Given the description of an element on the screen output the (x, y) to click on. 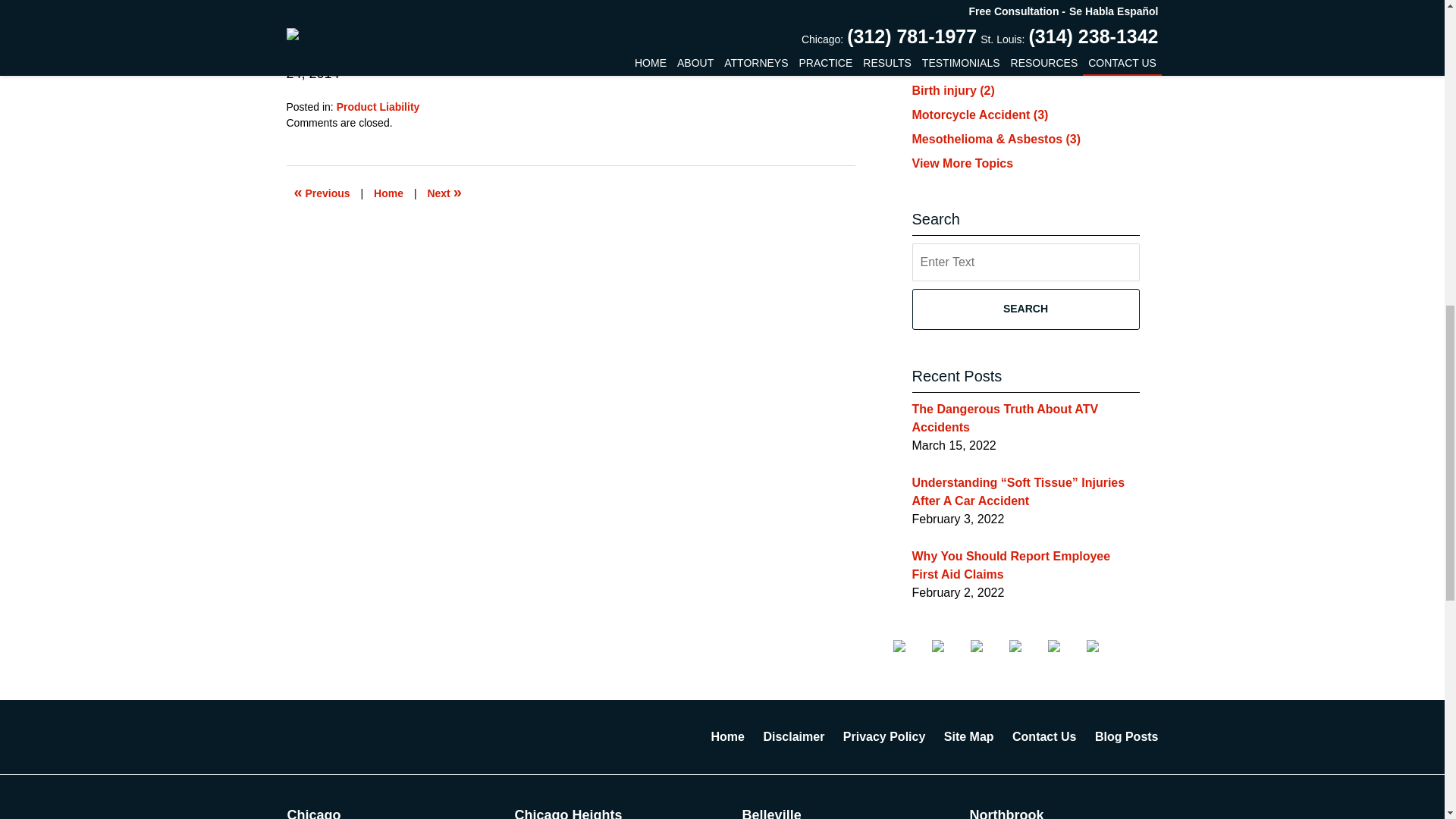
Twitter (948, 645)
LinkedIn (988, 645)
View all posts in Product Liability (378, 106)
YouTube (1065, 645)
Feed (1103, 645)
Facebook (910, 645)
Home (388, 193)
Justia (1026, 645)
Product Liability (378, 106)
Alcohol, BAC And Car Accidents (322, 193)
